Given the description of an element on the screen output the (x, y) to click on. 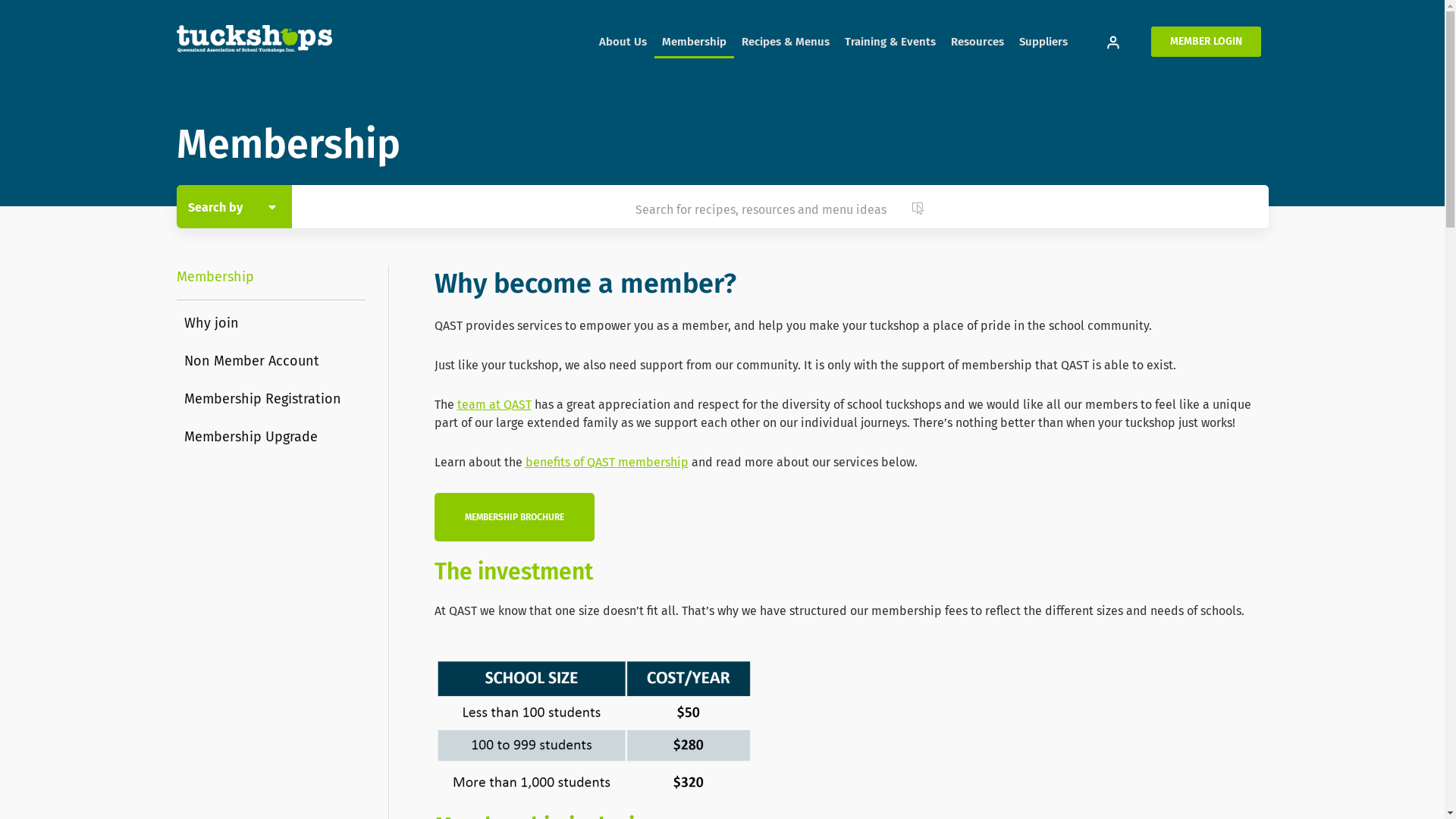
About Us Element type: text (622, 41)
Membership Element type: text (693, 41)
Resources Element type: text (977, 41)
Suppliers Element type: text (1043, 41)
MEMBERSHIP BROCHURE Element type: text (513, 516)
Search Element type: text (732, 170)
membership_fees_2023 Element type: hover (592, 726)
MEMBER LOGIN Element type: text (1206, 41)
Non Member Account Element type: text (250, 360)
Membership Element type: text (214, 276)
team at QAST Element type: text (493, 404)
Recipes & Menus Element type: text (785, 41)
benefits of QAST membership Element type: text (605, 462)
Search for recipes, resources and menu ideas Element type: text (779, 205)
Search by Element type: text (230, 203)
Training & Events Element type: text (890, 41)
Membership Upgrade Element type: text (249, 436)
Membership Registration Element type: text (261, 398)
Why join Element type: text (210, 322)
